Given the description of an element on the screen output the (x, y) to click on. 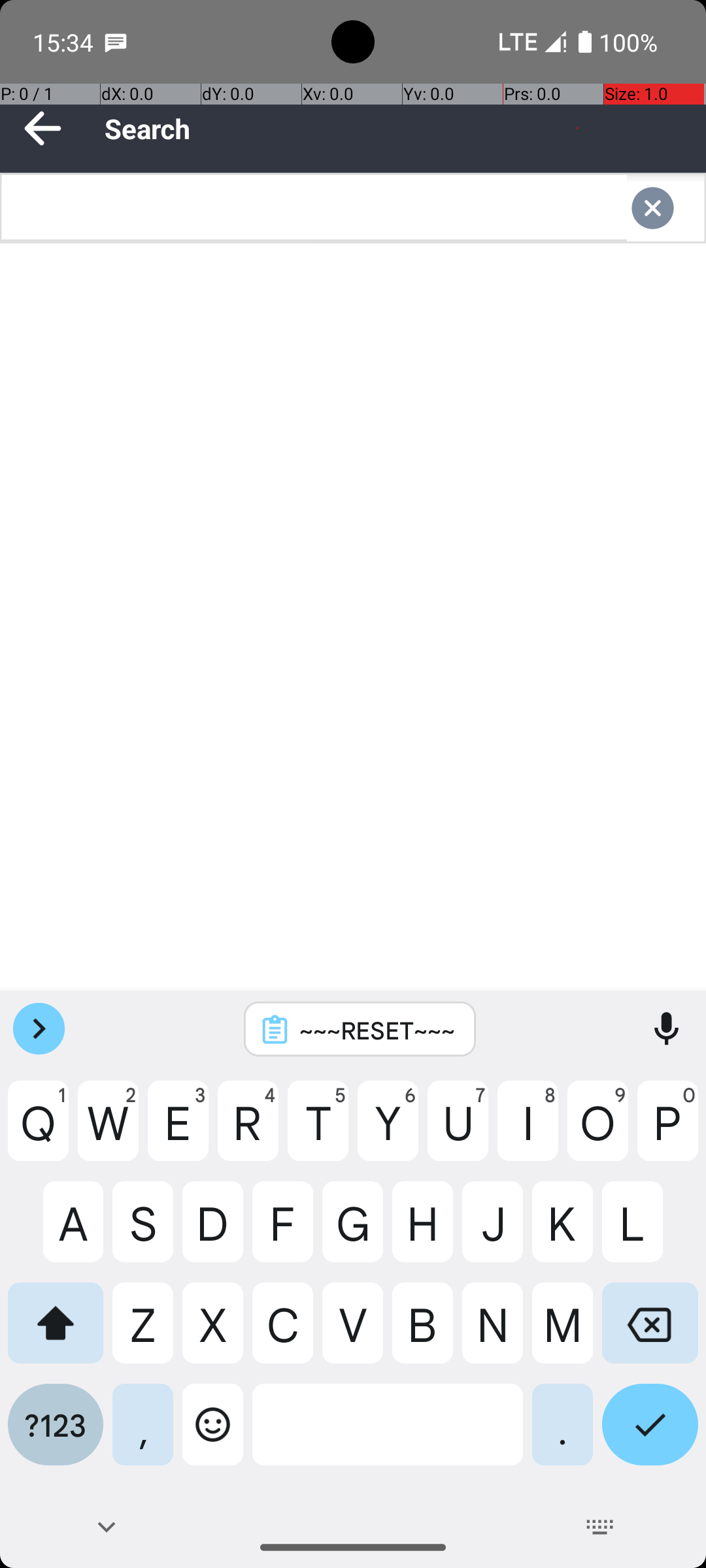
 Element type: android.widget.TextView (665, 207)
